Given the description of an element on the screen output the (x, y) to click on. 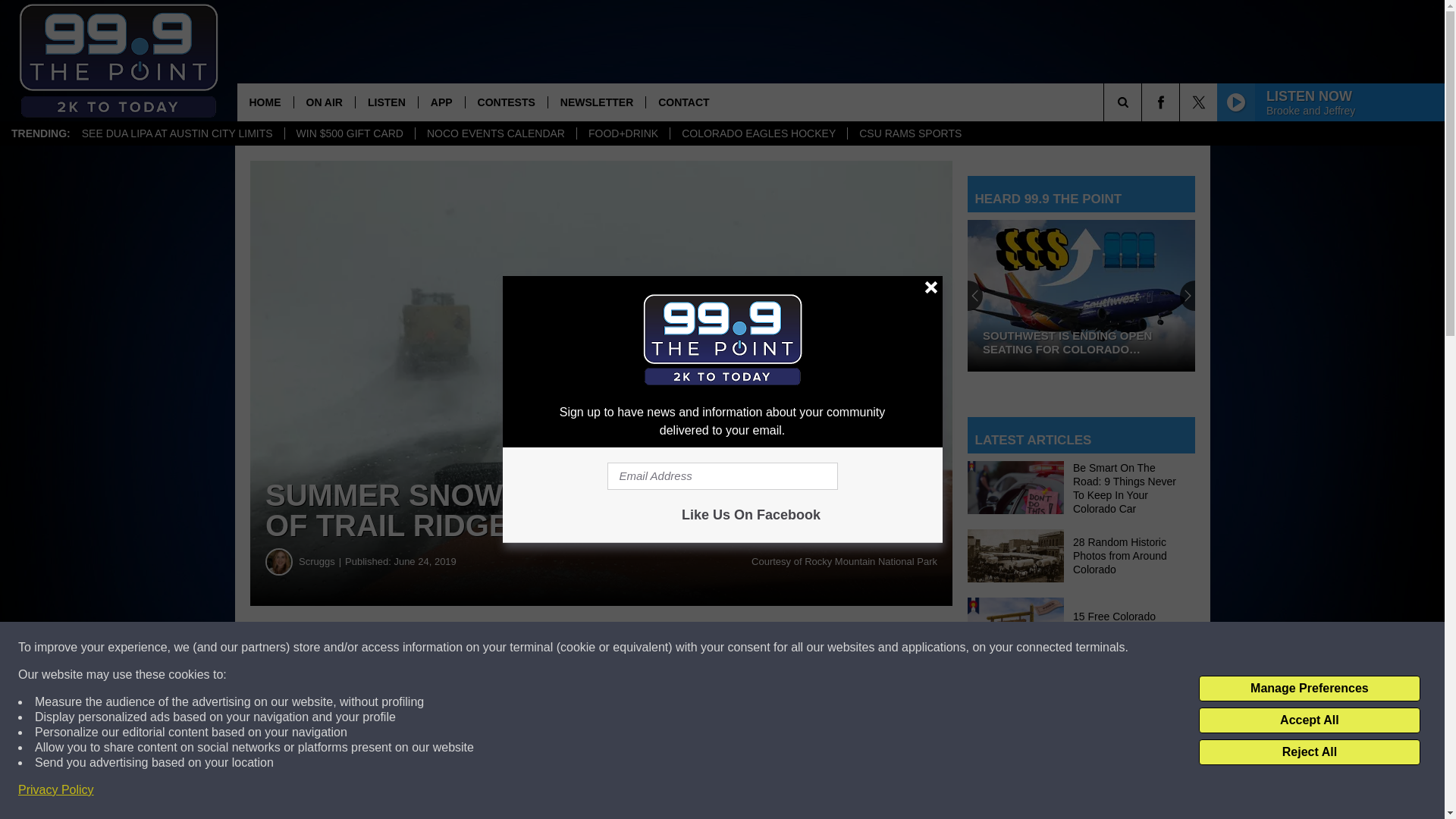
Accept All (1309, 720)
HOME (263, 102)
SEARCH (1144, 102)
COLORADO EAGLES HOCKEY (758, 133)
ON AIR (322, 102)
Manage Preferences (1309, 688)
LISTEN (386, 102)
Share on Facebook (460, 647)
SEARCH (1144, 102)
SEE DUA LIPA AT AUSTIN CITY LIMITS (176, 133)
NOCO EVENTS CALENDAR (495, 133)
Email Address (722, 475)
Privacy Policy (55, 789)
Share on Twitter (741, 647)
CSU RAMS SPORTS (909, 133)
